Given the description of an element on the screen output the (x, y) to click on. 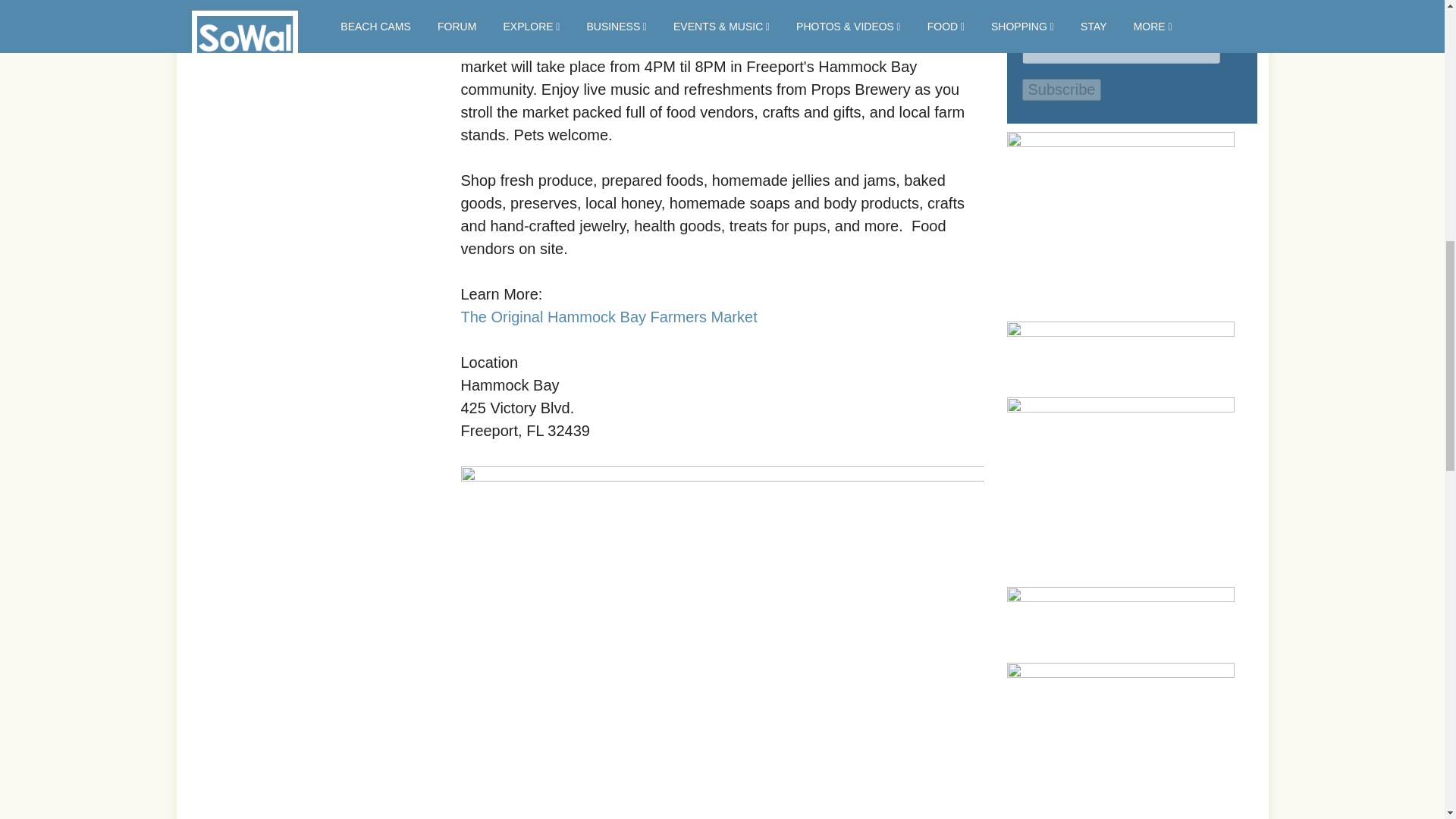
Subscribe (1062, 89)
